Given the description of an element on the screen output the (x, y) to click on. 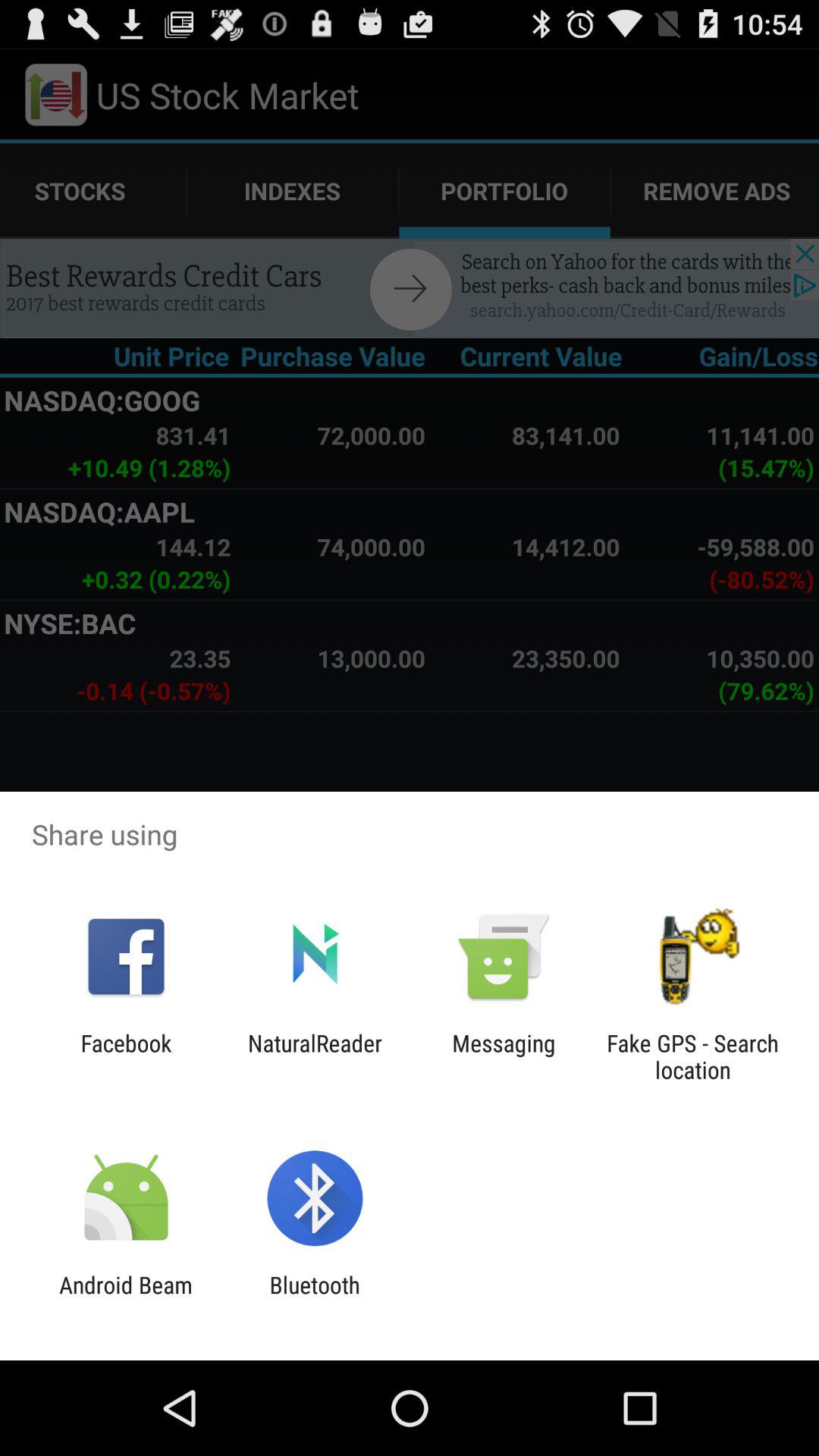
choose the facebook item (125, 1056)
